Given the description of an element on the screen output the (x, y) to click on. 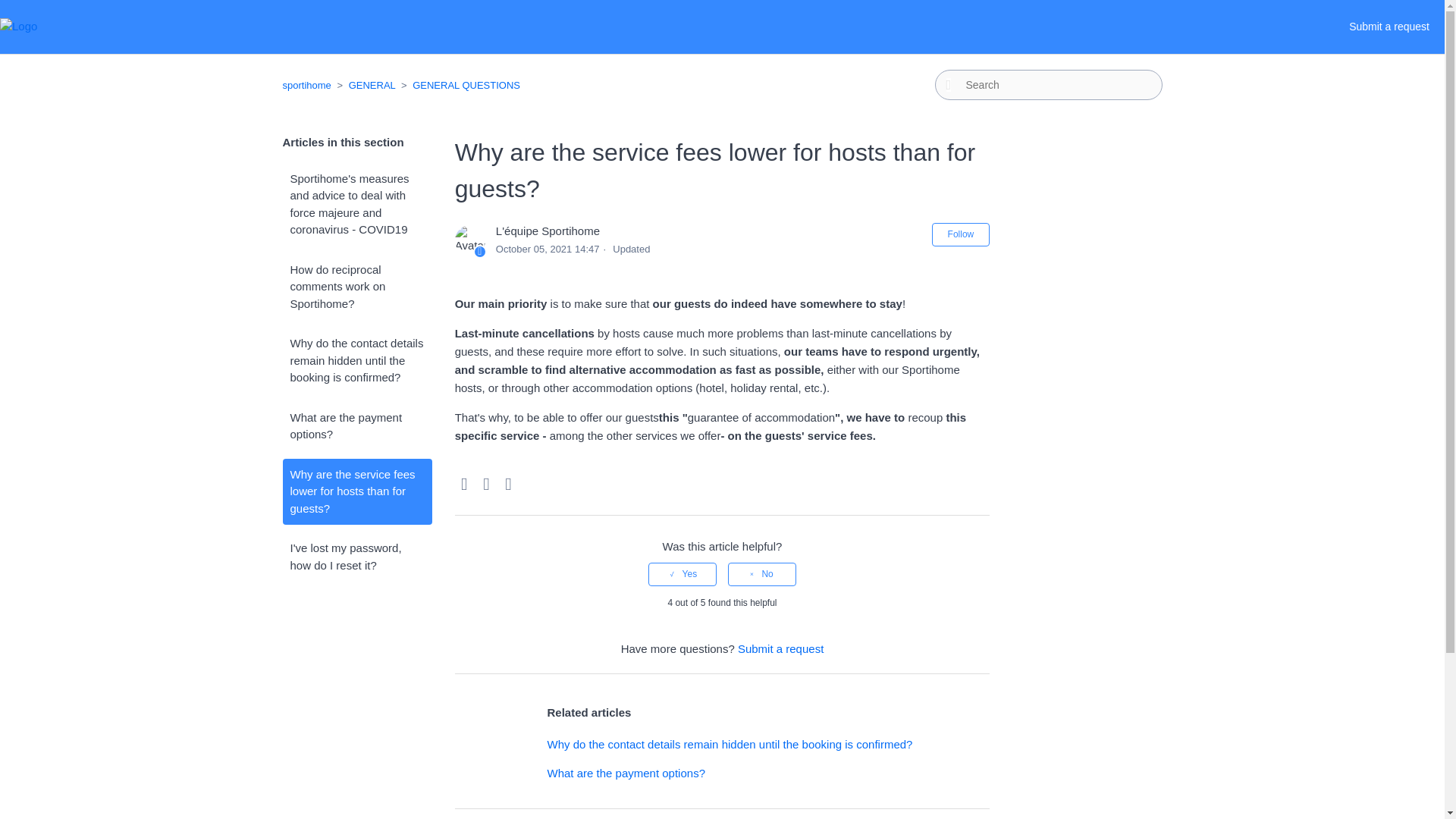
LinkedIn (508, 484)
GENERAL QUESTIONS (458, 84)
Facebook (464, 484)
Yes (681, 573)
What are the payment options? (625, 772)
What are the payment options? (356, 426)
Follow (960, 233)
Why are the service fees lower for hosts than for guests? (356, 490)
Twitter (486, 484)
GENERAL (372, 84)
How do reciprocal comments work on Sportihome? (356, 286)
sportihome (306, 84)
Submit a request (781, 648)
Opens a sign-in dialog (960, 233)
